Given the description of an element on the screen output the (x, y) to click on. 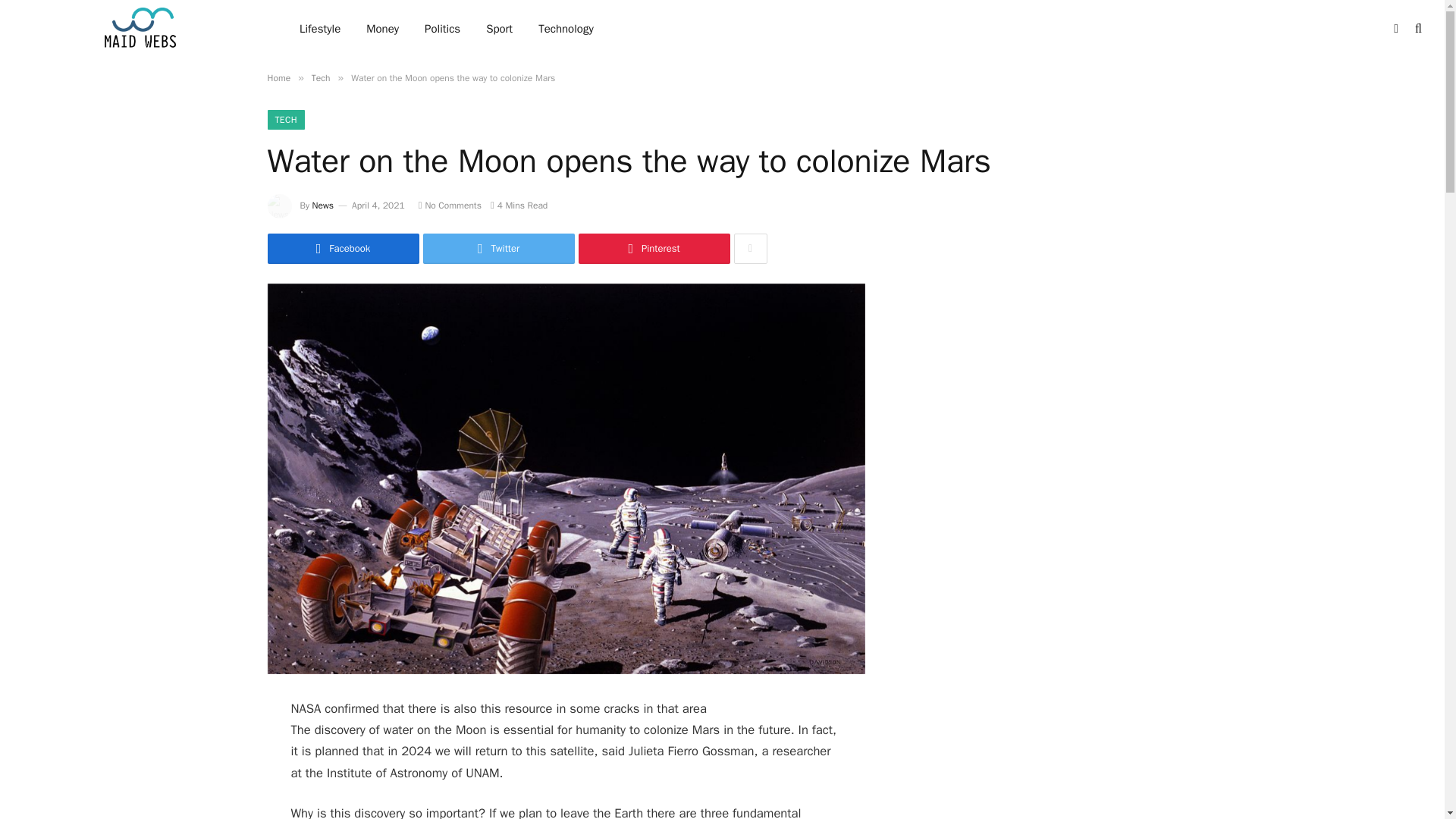
TECH (285, 119)
Sport (499, 28)
Facebook (342, 248)
Lifestyle (319, 28)
Share on Twitter (499, 248)
Twitter (499, 248)
Share on Pinterest (653, 248)
Pinterest (653, 248)
Home (277, 78)
Money (382, 28)
